Given the description of an element on the screen output the (x, y) to click on. 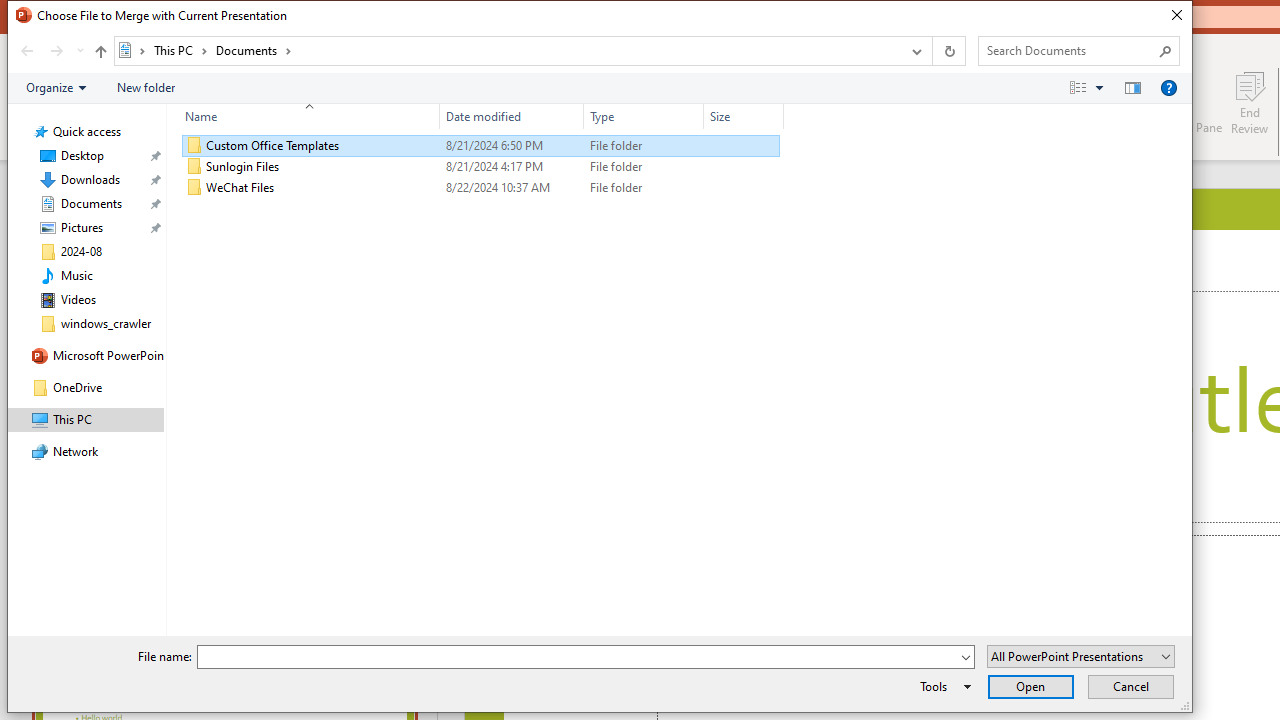
View Slider (1099, 87)
